Given the description of an element on the screen output the (x, y) to click on. 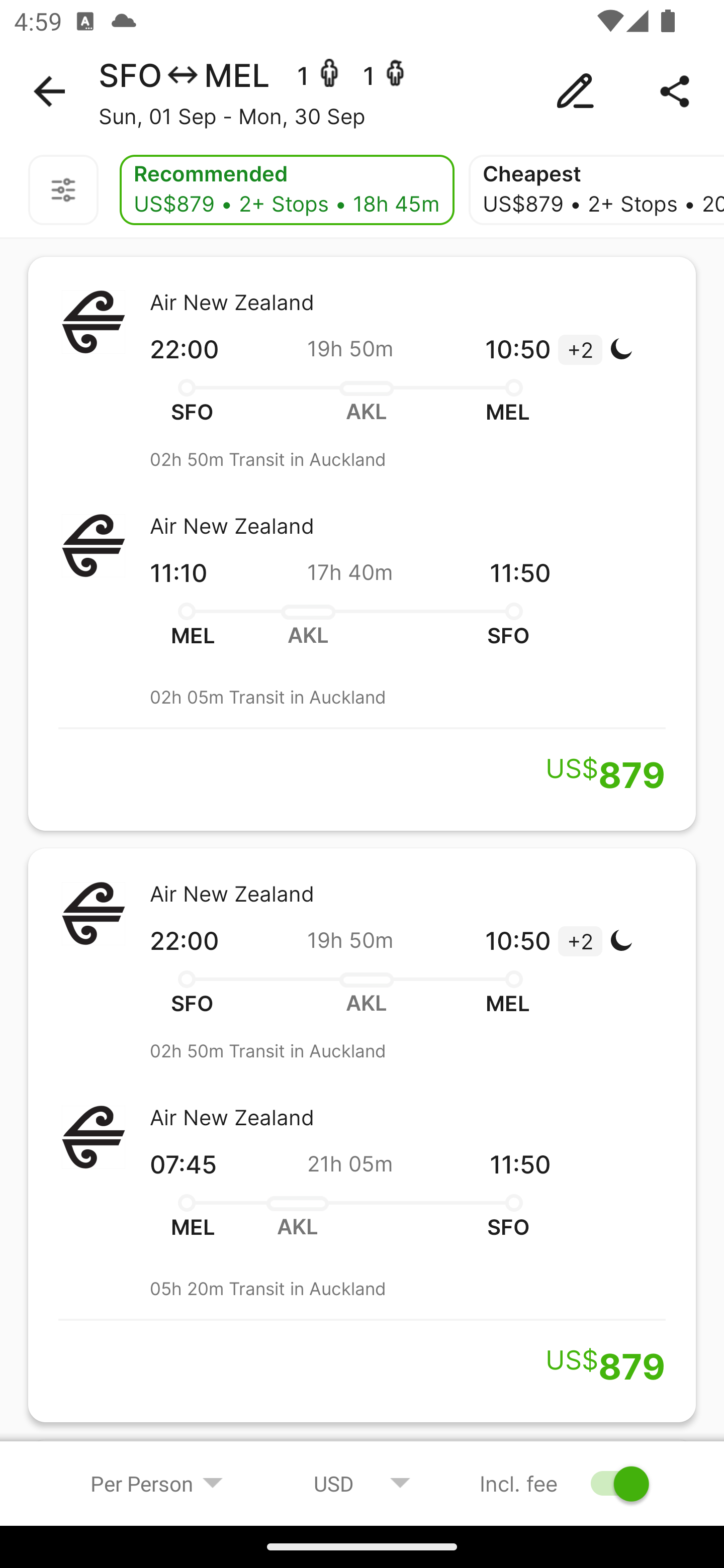
SFO MEL   1 -   1 - Sun, 01 Sep - Mon, 30 Sep (361, 91)
Recommended  US$879 • 2+ Stops • 18h 45m (286, 190)
Cheapest US$879 • 2+ Stops • 20h 27m (596, 190)
Per Person (156, 1482)
USD (361, 1482)
